Given the description of an element on the screen output the (x, y) to click on. 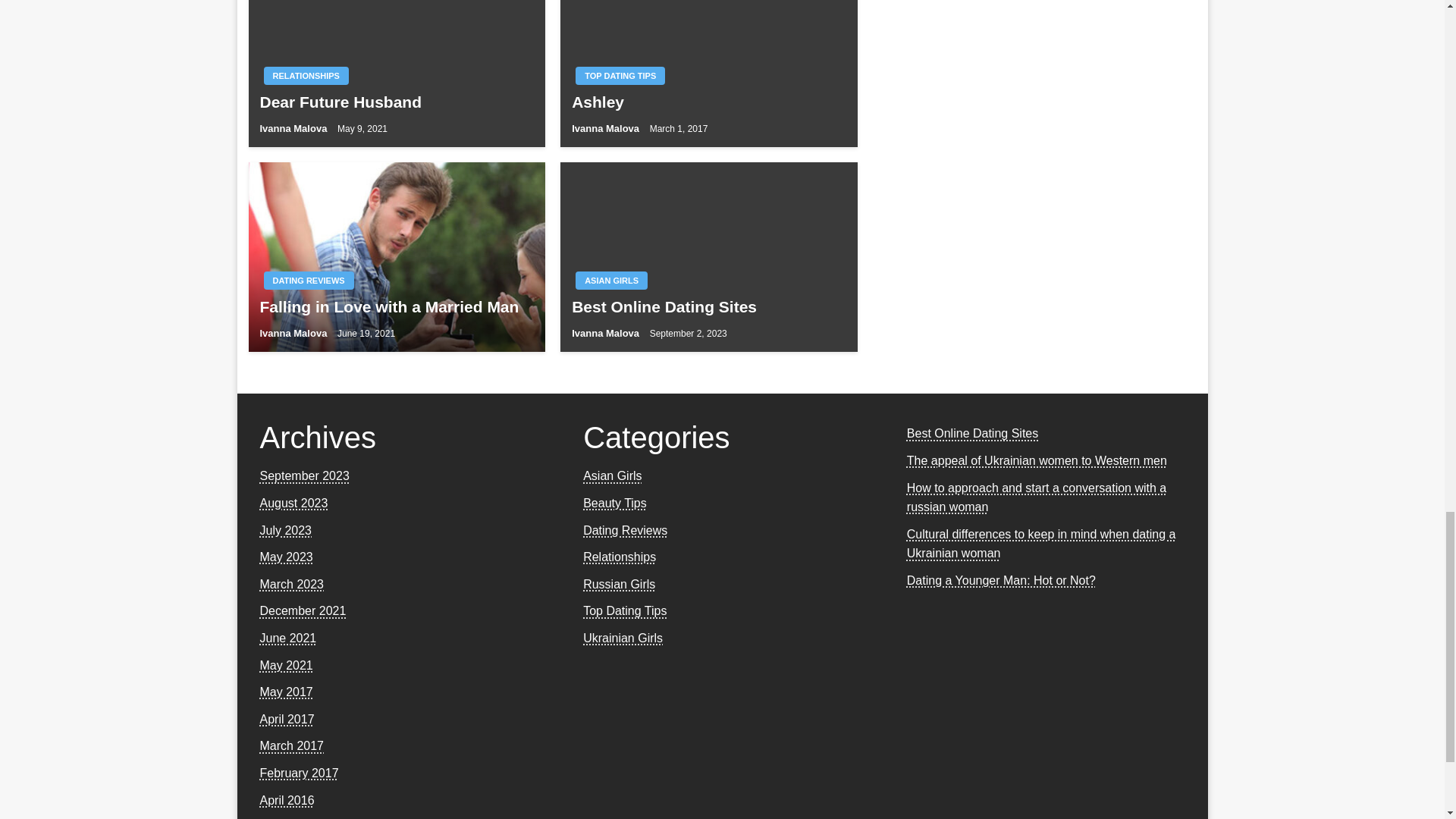
Ivanna Malova (294, 128)
TOP DATING TIPS (620, 75)
Dear Future Husband (396, 101)
Best Online Dating Sites (708, 306)
Ivanna Malova (607, 128)
Ivanna Malova (294, 333)
Ashley (708, 101)
Falling in Love with a Married Man (396, 306)
DATING REVIEWS (308, 280)
ASIAN GIRLS (611, 280)
